Given the description of an element on the screen output the (x, y) to click on. 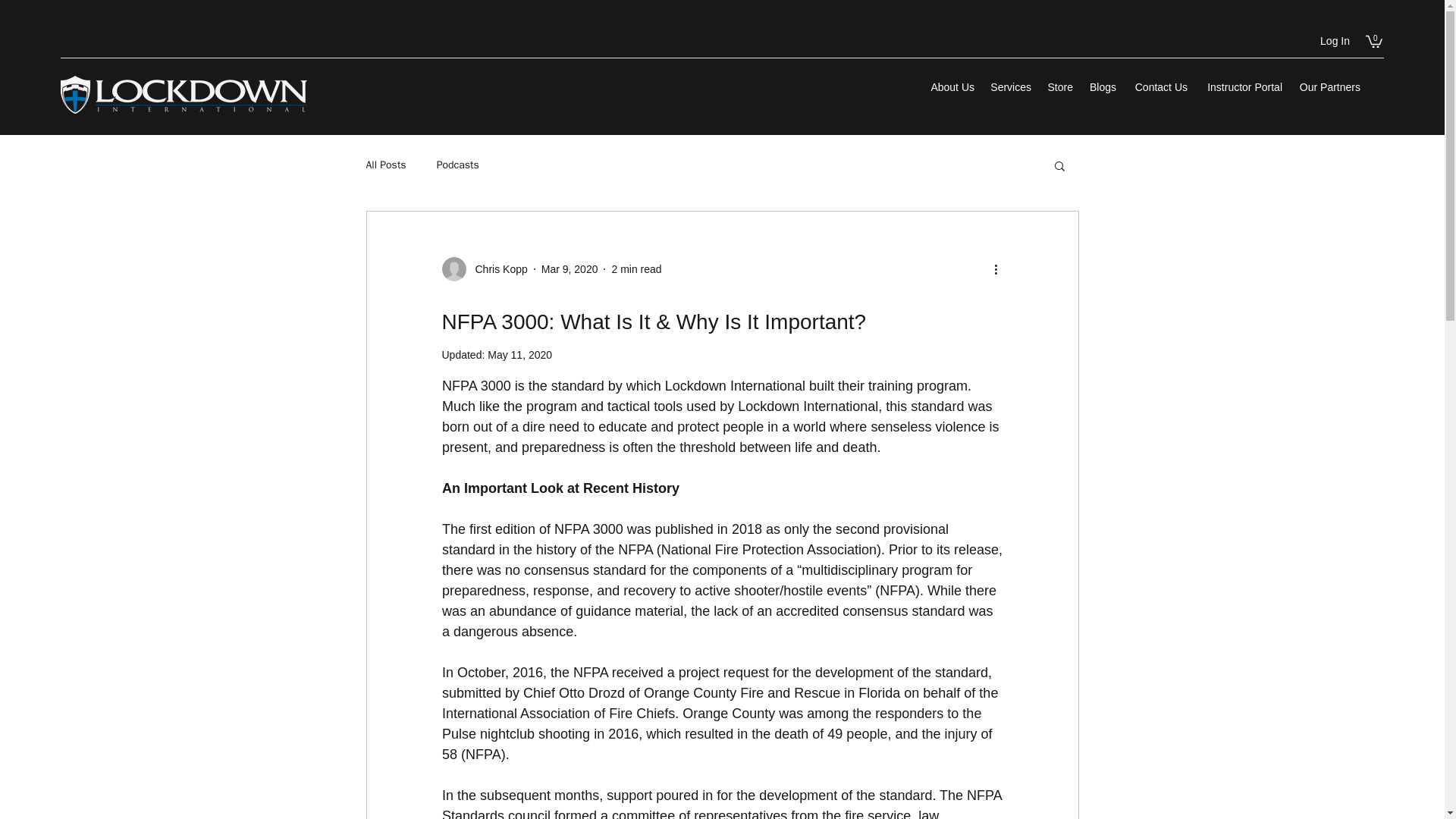
Blogs (1102, 87)
May 11, 2020 (519, 354)
All Posts (385, 164)
Contact Us (1159, 87)
Chris Kopp (496, 269)
Store (1059, 87)
Chris Kopp (484, 269)
Log In (1333, 41)
Mar 9, 2020 (569, 268)
0 (1373, 40)
2 min read (636, 268)
Our Partners (1329, 87)
0 (1373, 41)
Podcasts (457, 164)
About Us (950, 87)
